Given the description of an element on the screen output the (x, y) to click on. 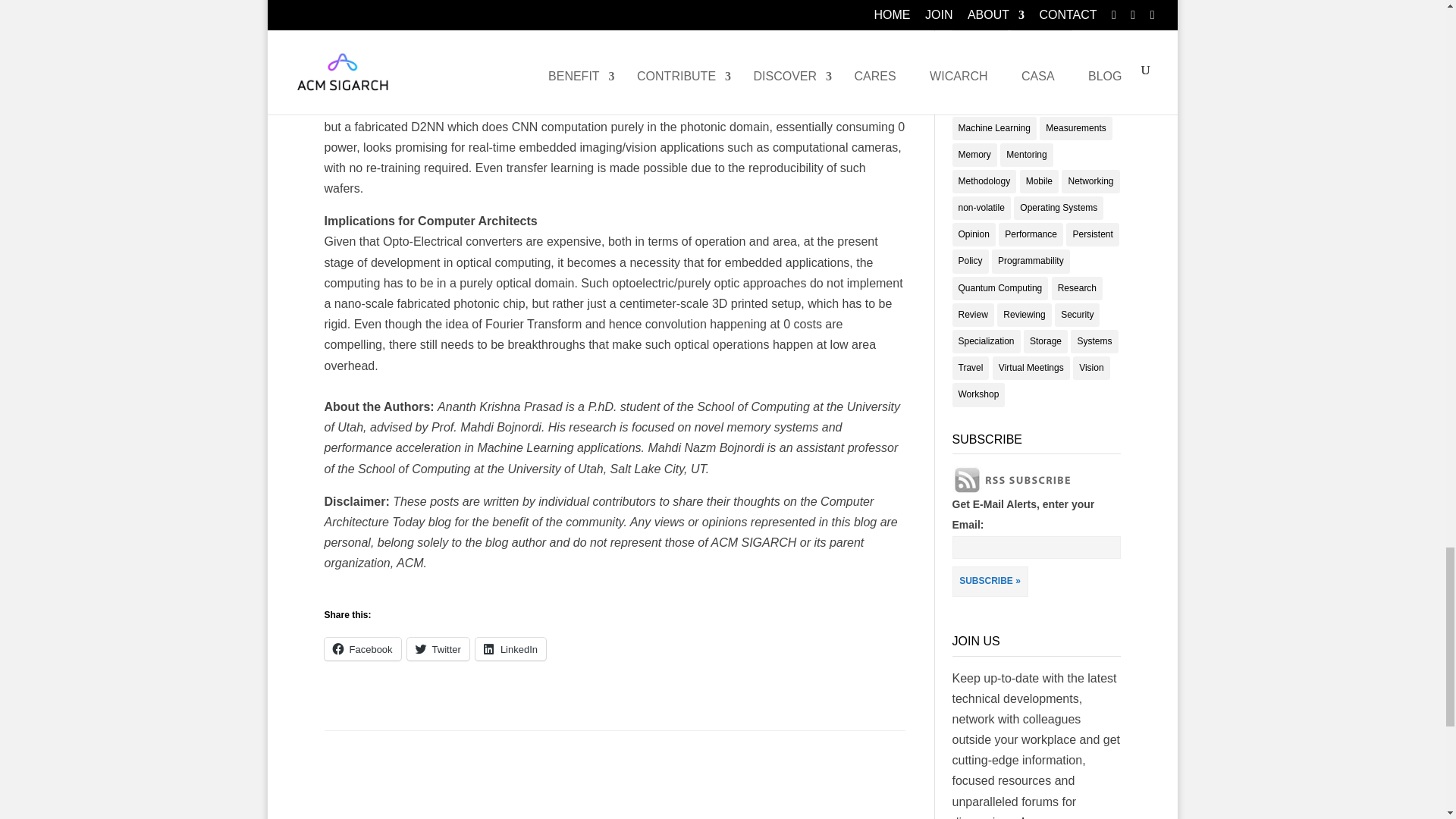
Click to share on Facebook (362, 649)
Click to share on LinkedIn (511, 649)
Click to share on Twitter (437, 649)
